Given the description of an element on the screen output the (x, y) to click on. 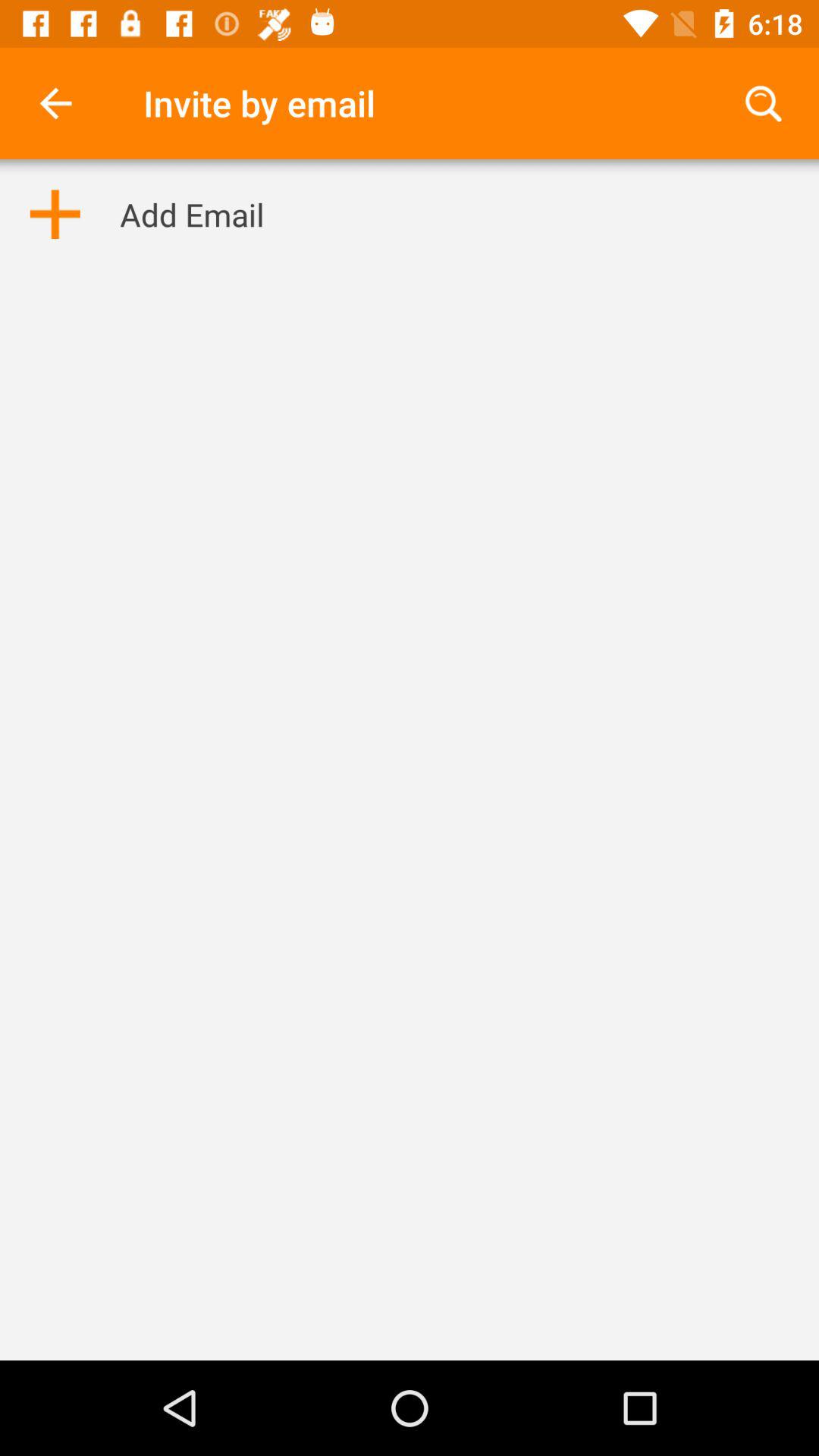
select the item to the right of invite by email icon (763, 103)
